Given the description of an element on the screen output the (x, y) to click on. 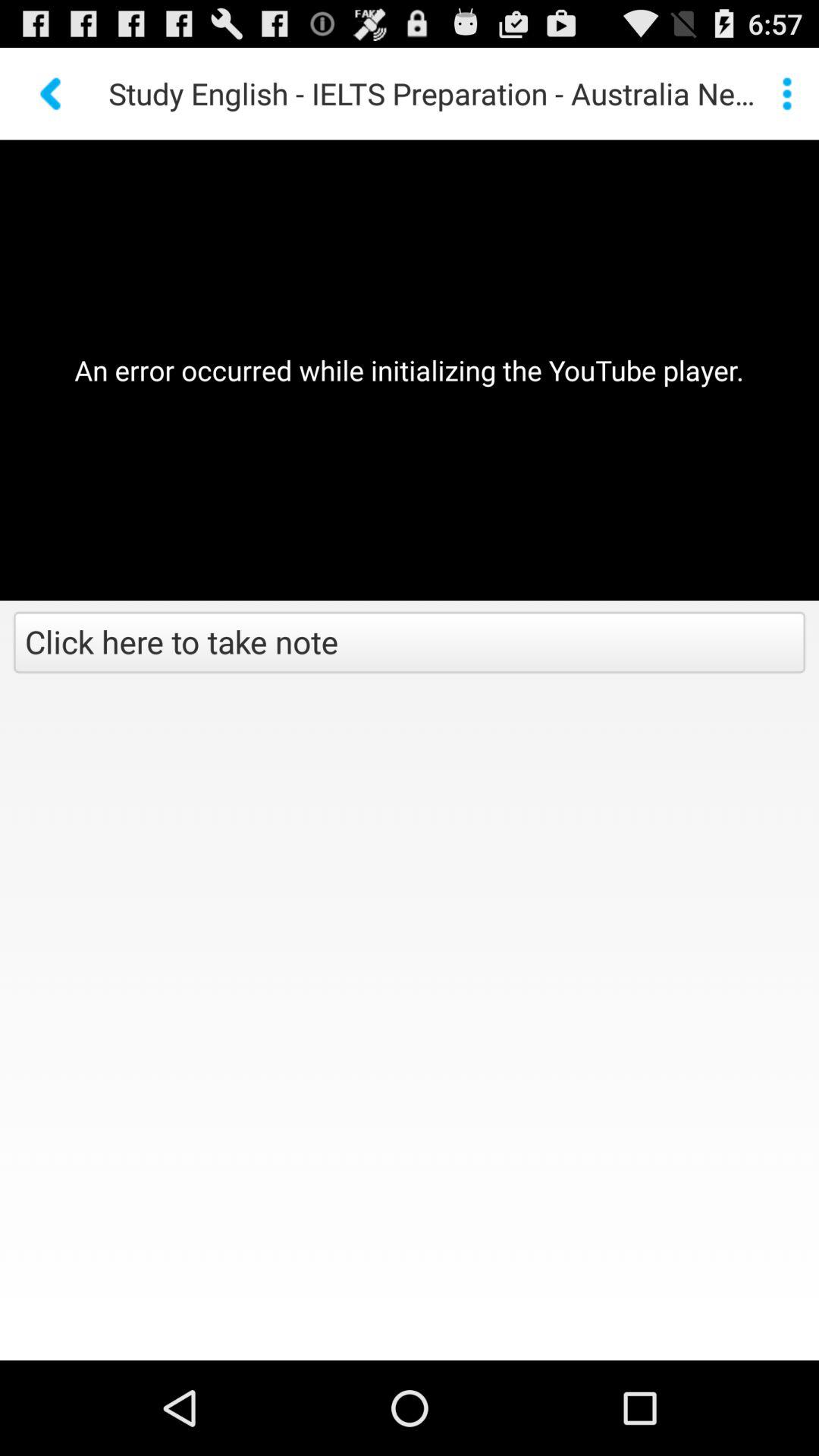
more (787, 93)
